Given the description of an element on the screen output the (x, y) to click on. 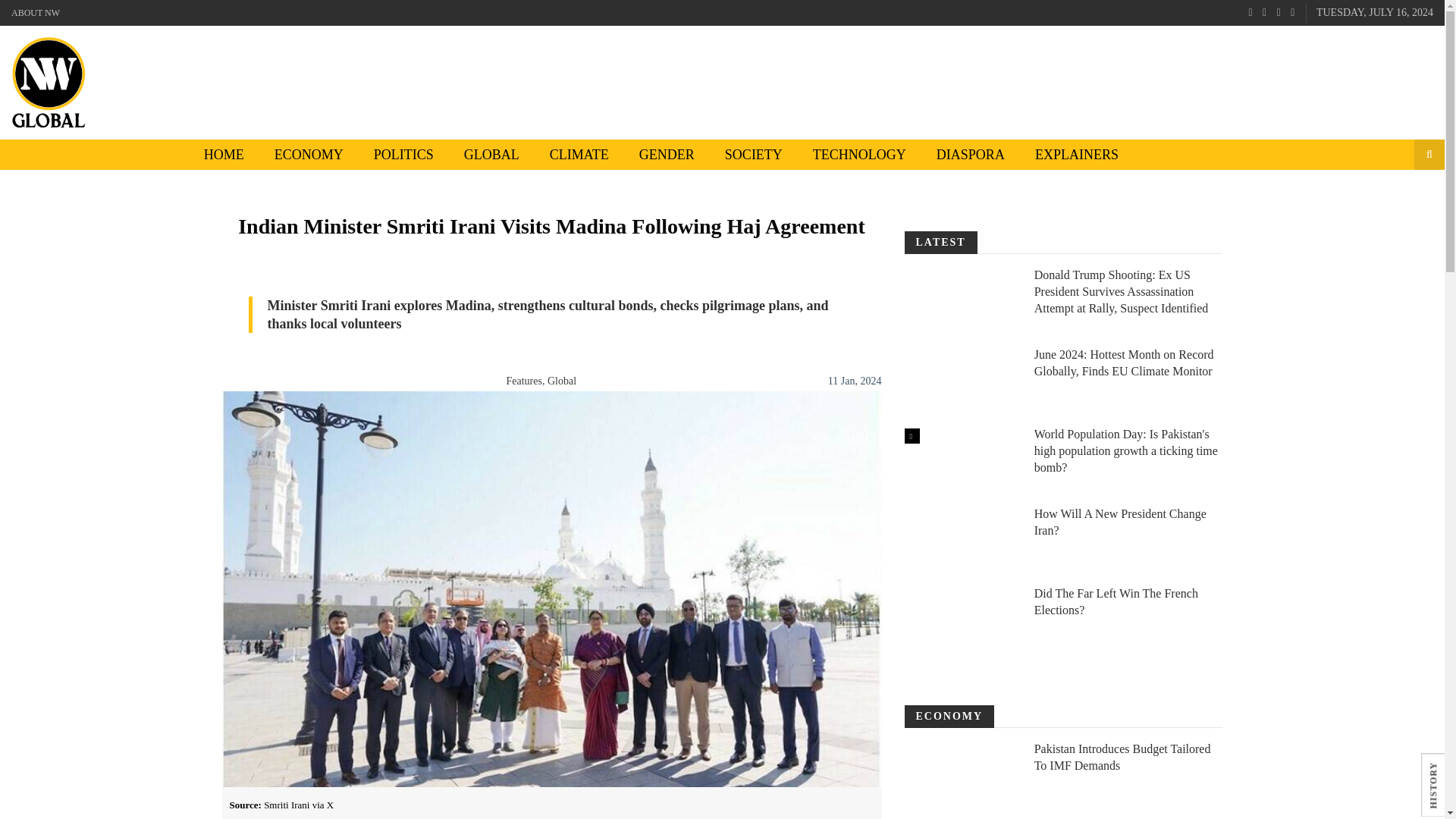
Did The Far Left Win The French Elections? (960, 619)
How Will A New President Change Iran? (960, 539)
EXPLAINERS (1077, 154)
TECHNOLOGY (859, 154)
Global (561, 380)
POLITICS (403, 154)
CLIMATE (579, 154)
Features (523, 380)
GLOBAL (491, 154)
Pakistan Introduces Budget Tailored To IMF Demands (960, 774)
SOCIETY (753, 154)
DIASPORA (970, 154)
